Given the description of an element on the screen output the (x, y) to click on. 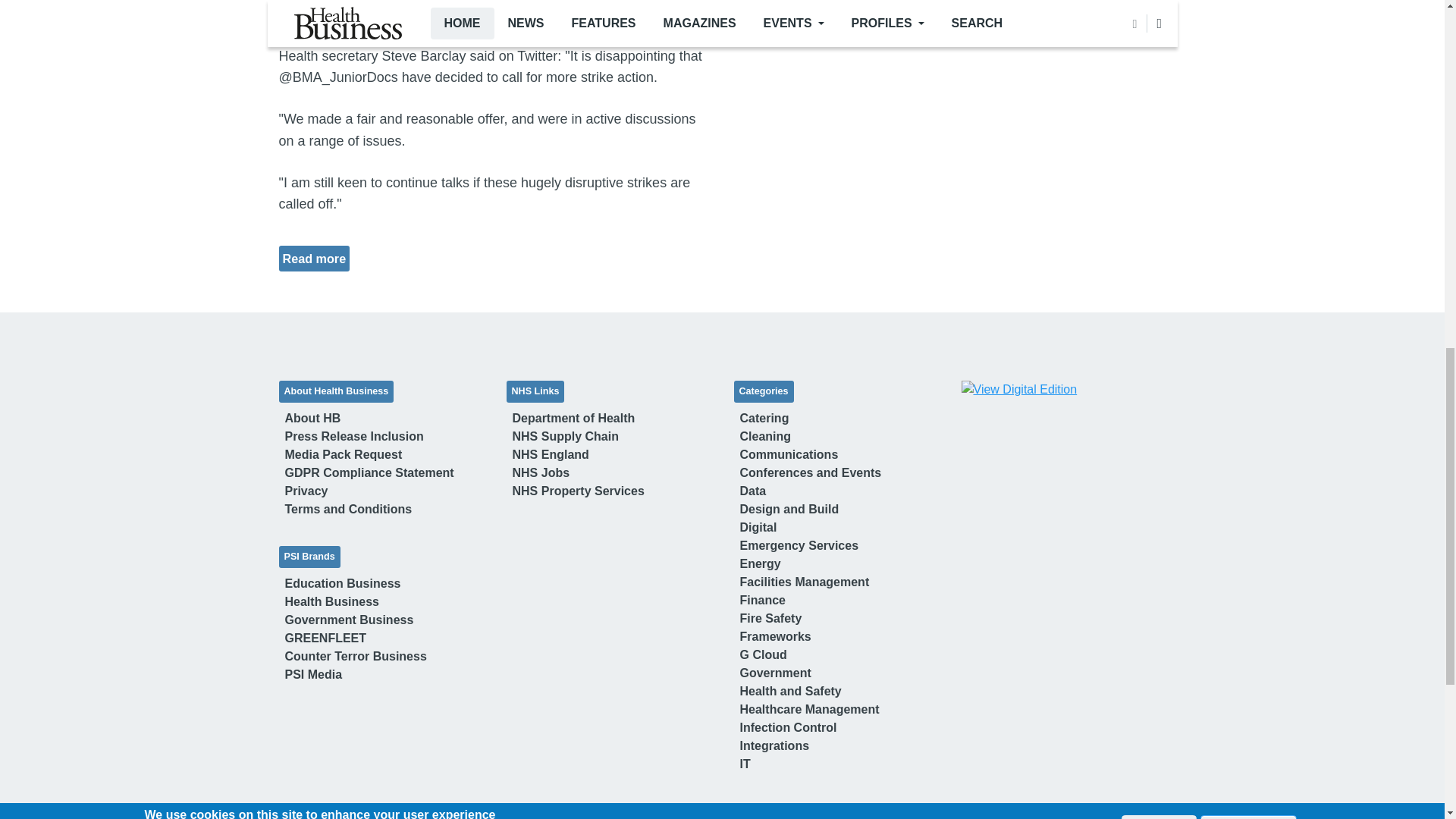
About HB (313, 417)
Press Release Inclusion (354, 436)
Media Pack Request (344, 454)
Read more (314, 258)
